Given the description of an element on the screen output the (x, y) to click on. 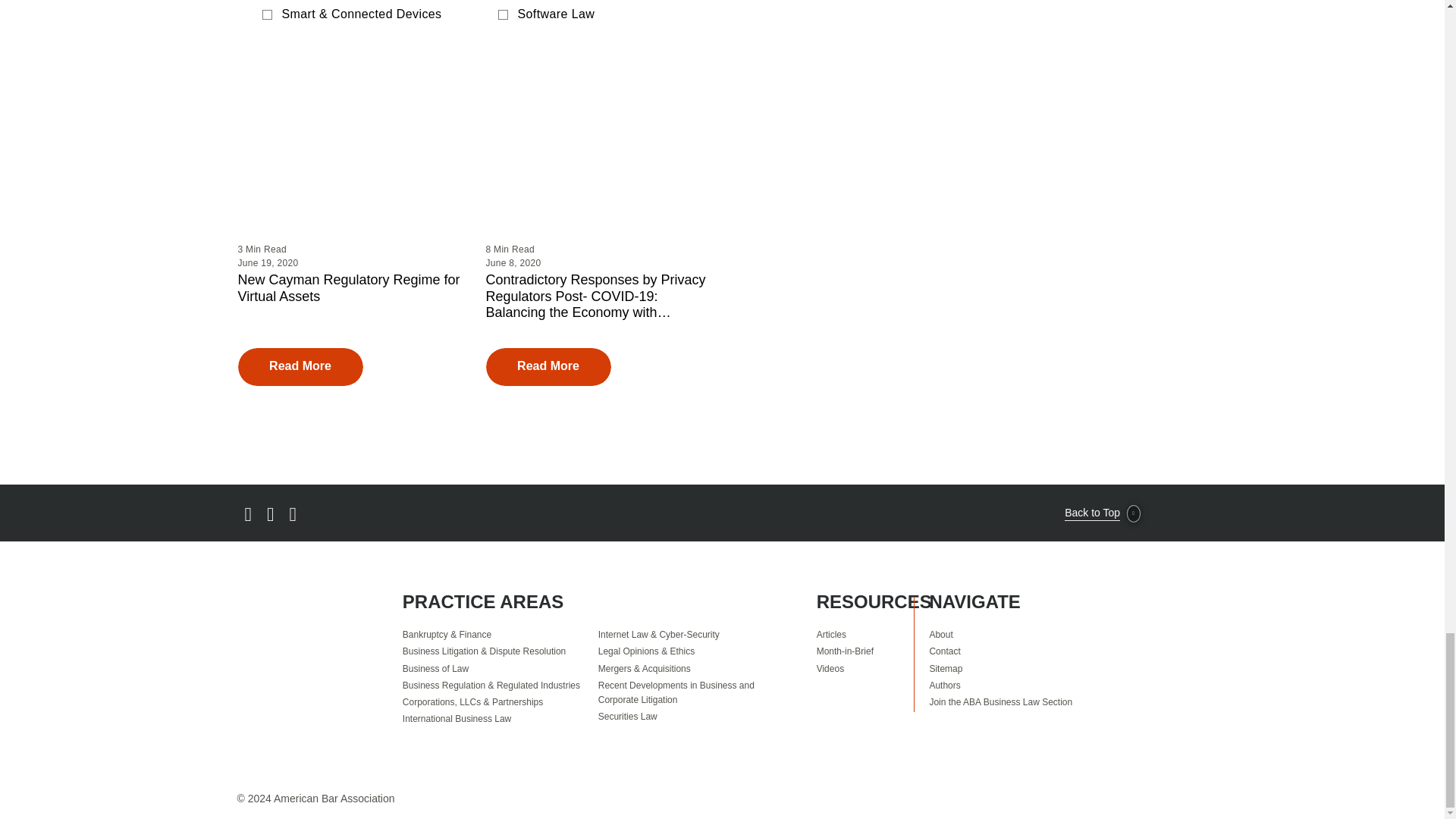
New Cayman Regulatory Regime for Virtual Assets (350, 287)
